Given the description of an element on the screen output the (x, y) to click on. 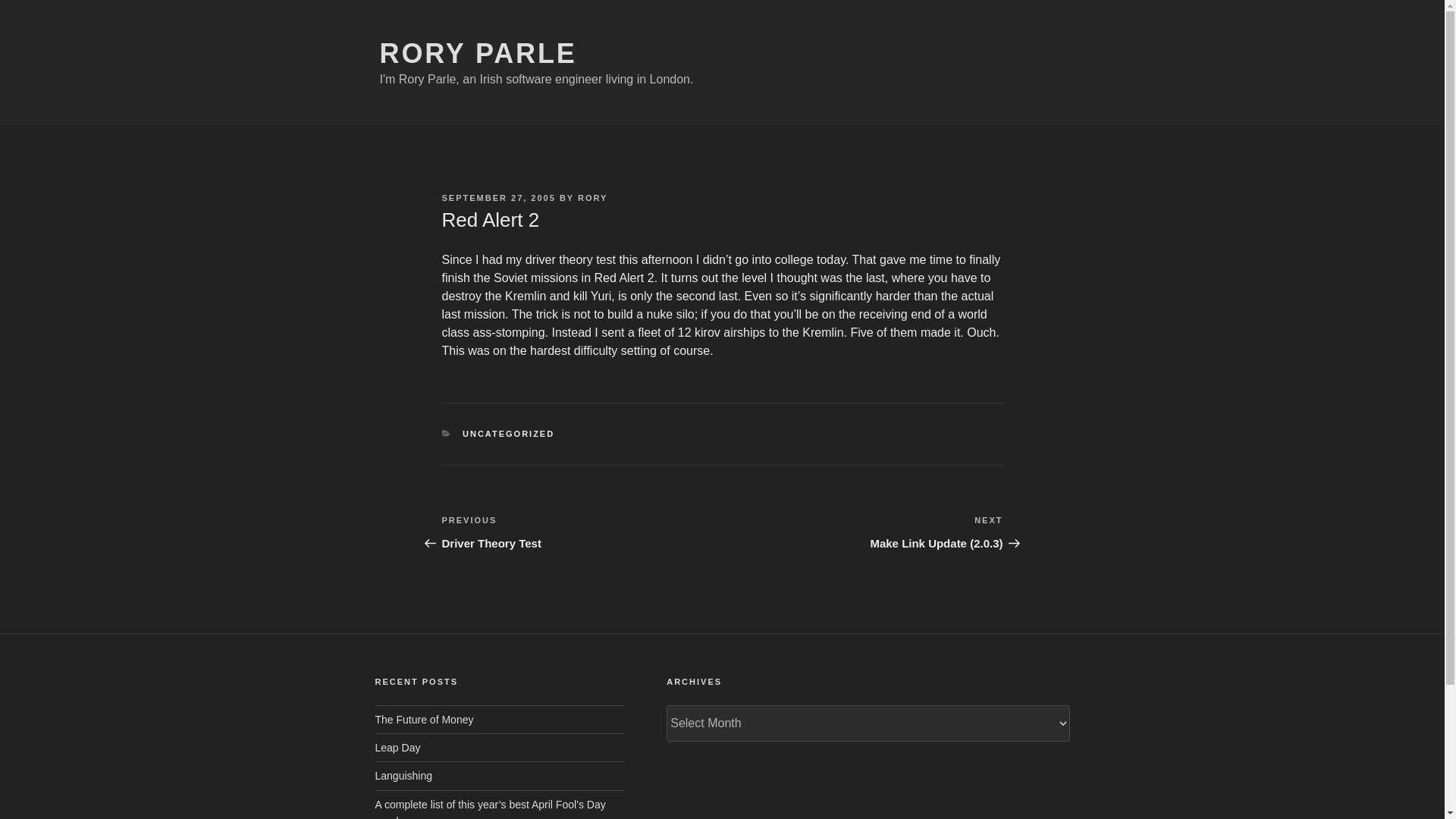
RORY (592, 197)
The Future of Money (581, 532)
RORY PARLE (423, 719)
SEPTEMBER 27, 2005 (477, 52)
Leap Day (497, 197)
Languishing (397, 747)
